Given the description of an element on the screen output the (x, y) to click on. 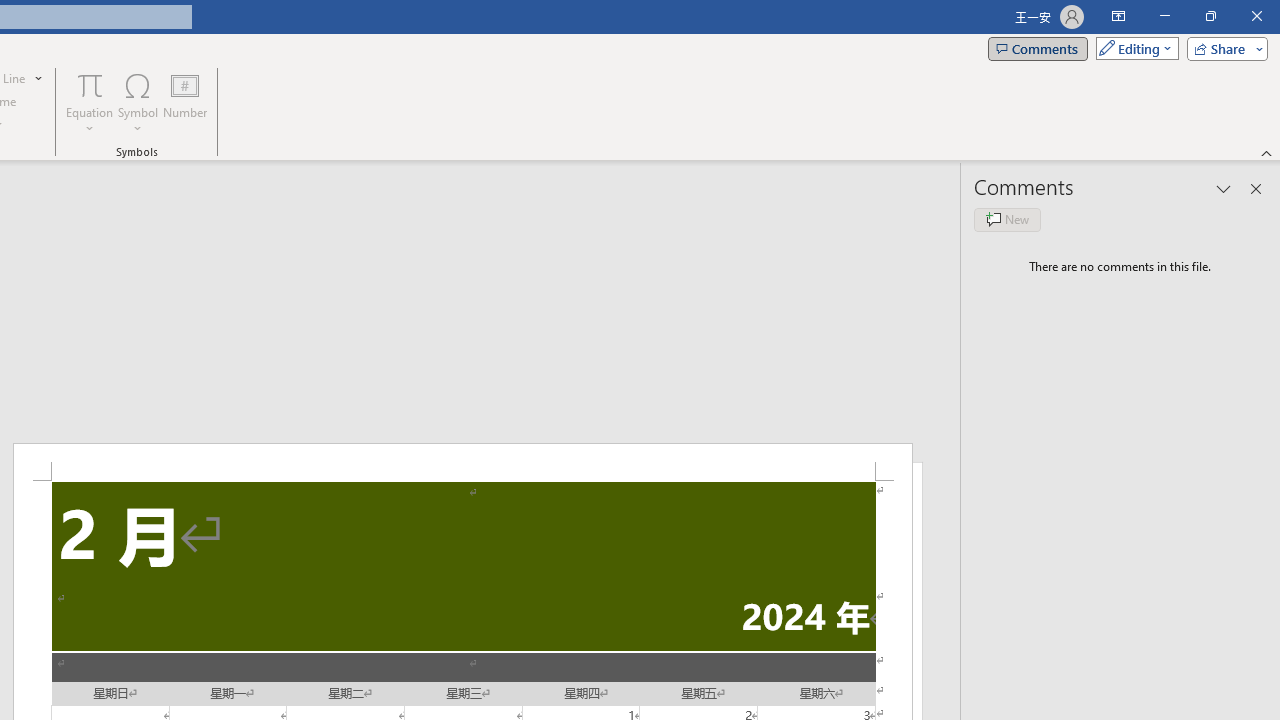
Collapse the Ribbon (1267, 152)
Equation (90, 102)
Comments (1038, 48)
